Given the description of an element on the screen output the (x, y) to click on. 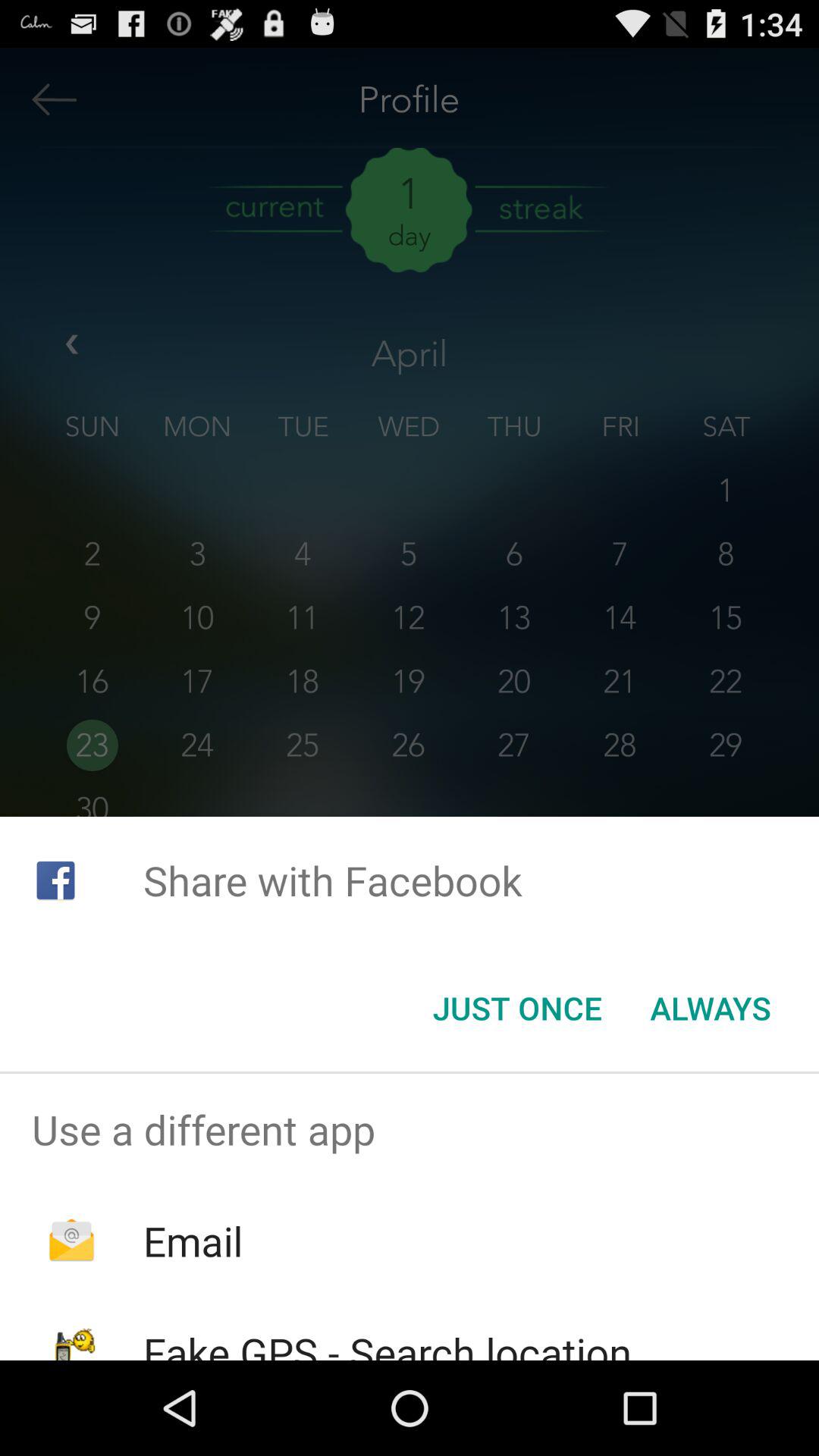
open the always (710, 1007)
